Given the description of an element on the screen output the (x, y) to click on. 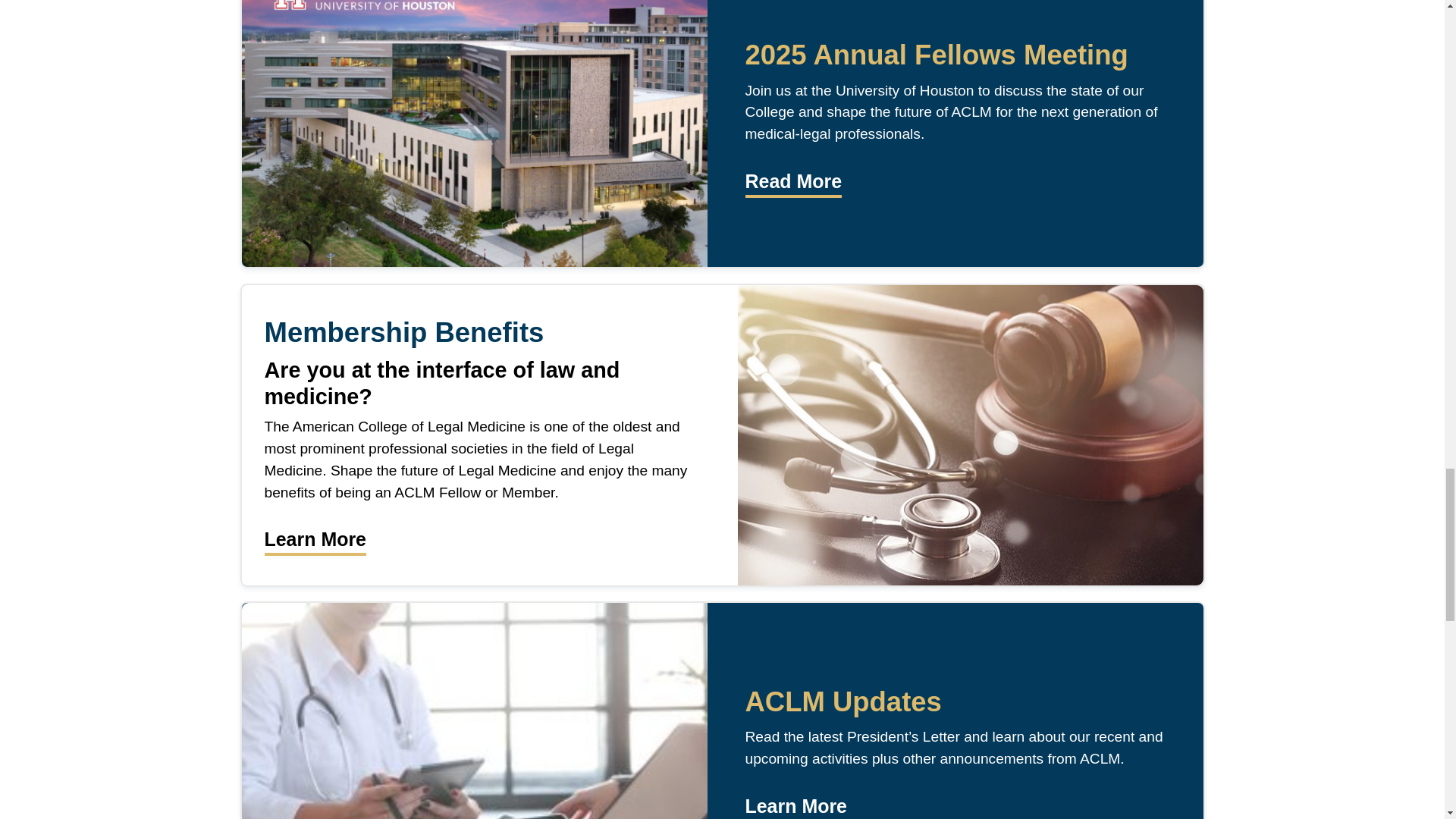
Learn More (314, 538)
Read More (792, 180)
Learn More (795, 805)
